Given the description of an element on the screen output the (x, y) to click on. 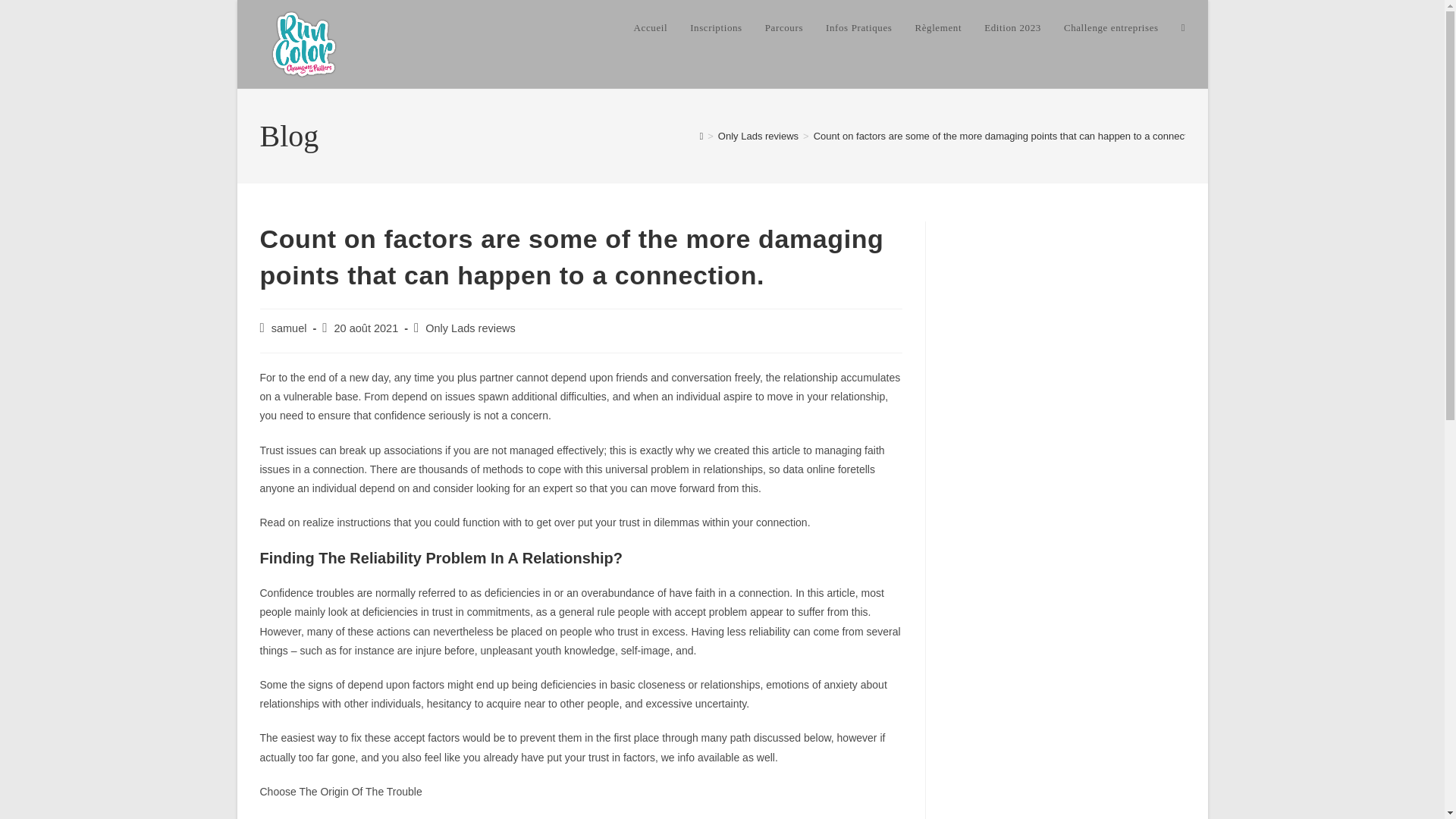
Edition 2023 (1012, 28)
Only Lads reviews (470, 328)
Only Lads reviews (757, 135)
Inscriptions (716, 28)
Parcours (783, 28)
Challenge entreprises (1111, 28)
Infos Pratiques (857, 28)
Accueil (651, 28)
samuel (288, 328)
Articles par samuel (288, 328)
